Given the description of an element on the screen output the (x, y) to click on. 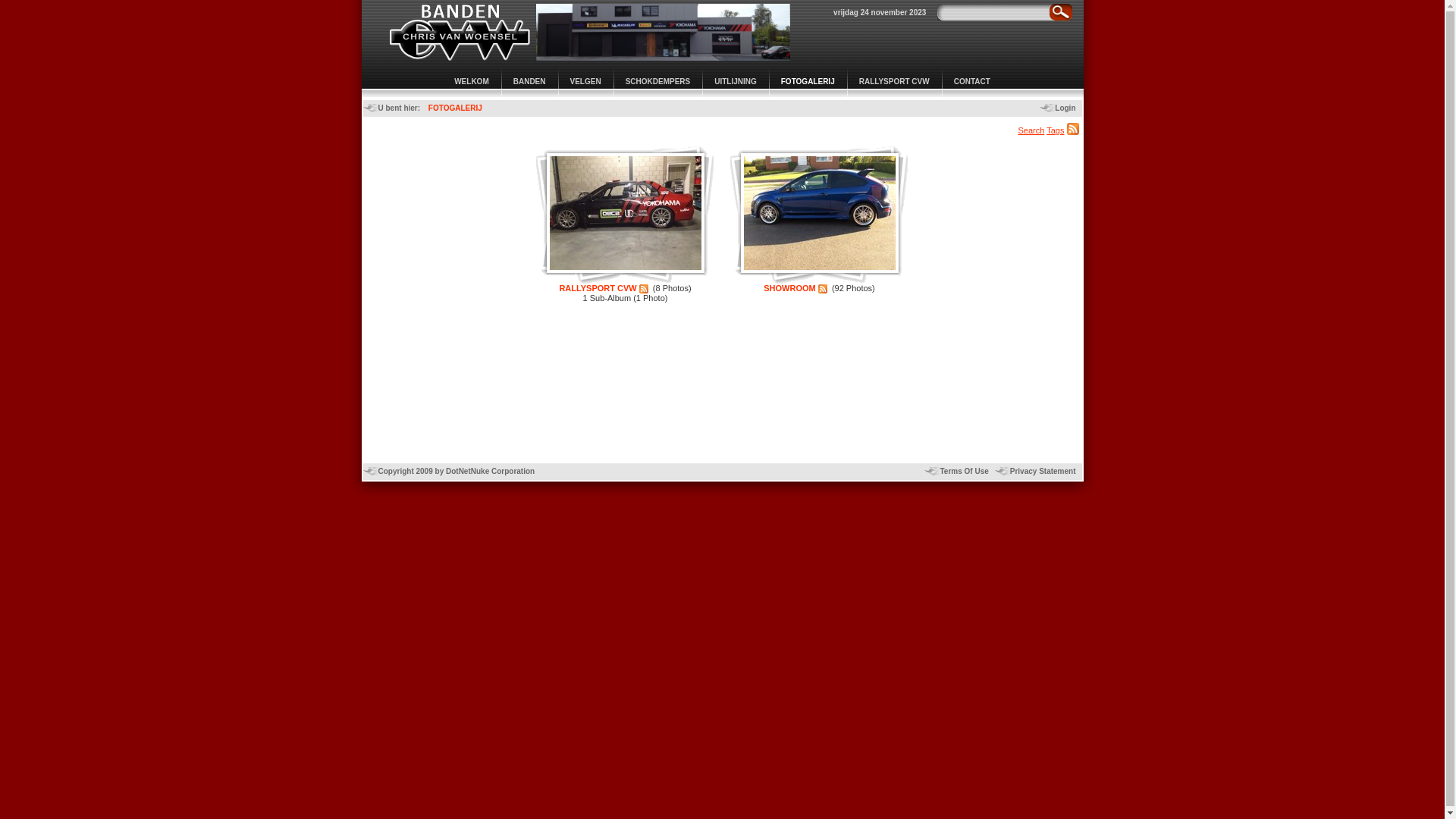
UITLIJNING Element type: text (735, 81)
Search Element type: text (1030, 129)
BANDEN Element type: text (529, 81)
Tags Element type: text (1054, 129)
FOTOGALERIJ Element type: text (455, 107)
FOTOGALERIJ Element type: text (807, 81)
Terms Of Use Element type: text (959, 471)
SCHOKDEMPERS Element type: text (657, 81)
RALLYSPORT CVW Element type: text (894, 81)
Bandencentrale CVW Element type: hover (581, 57)
VELGEN Element type: text (585, 81)
RALLYSPORT CVW Element type: text (597, 287)
Privacy Statement Element type: text (1038, 471)
Latest Photos Element type: hover (1072, 129)
CONTACT Element type: text (971, 81)
SHOWROOM Element type: text (789, 287)
FOTOGALERIJ: Latest Photos Element type: hover (1072, 128)
Login Element type: text (1060, 107)
WELKOM Element type: text (471, 81)
